Given the description of an element on the screen output the (x, y) to click on. 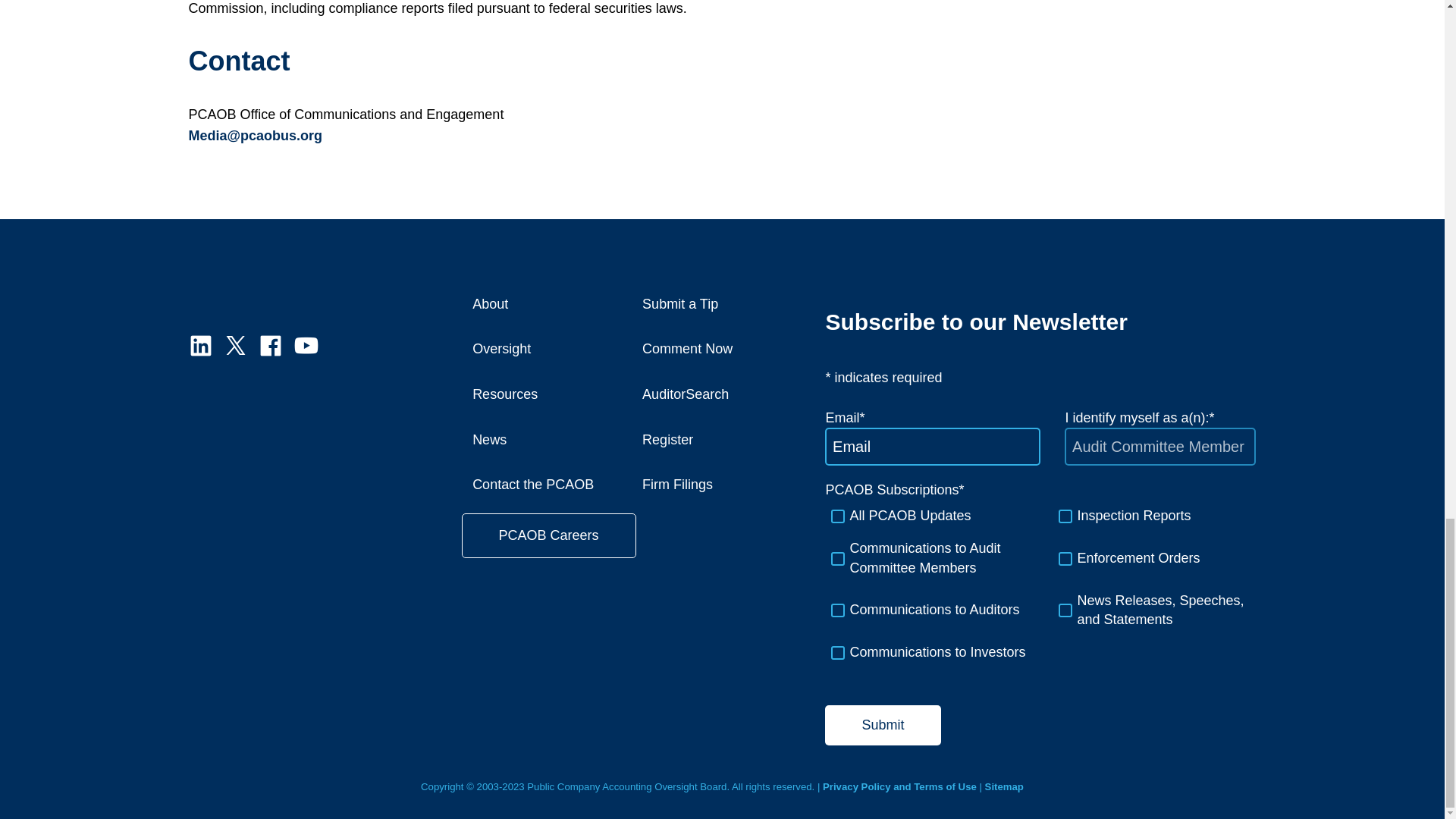
Submit (882, 725)
X-Logo-website-footer (235, 345)
